Given the description of an element on the screen output the (x, y) to click on. 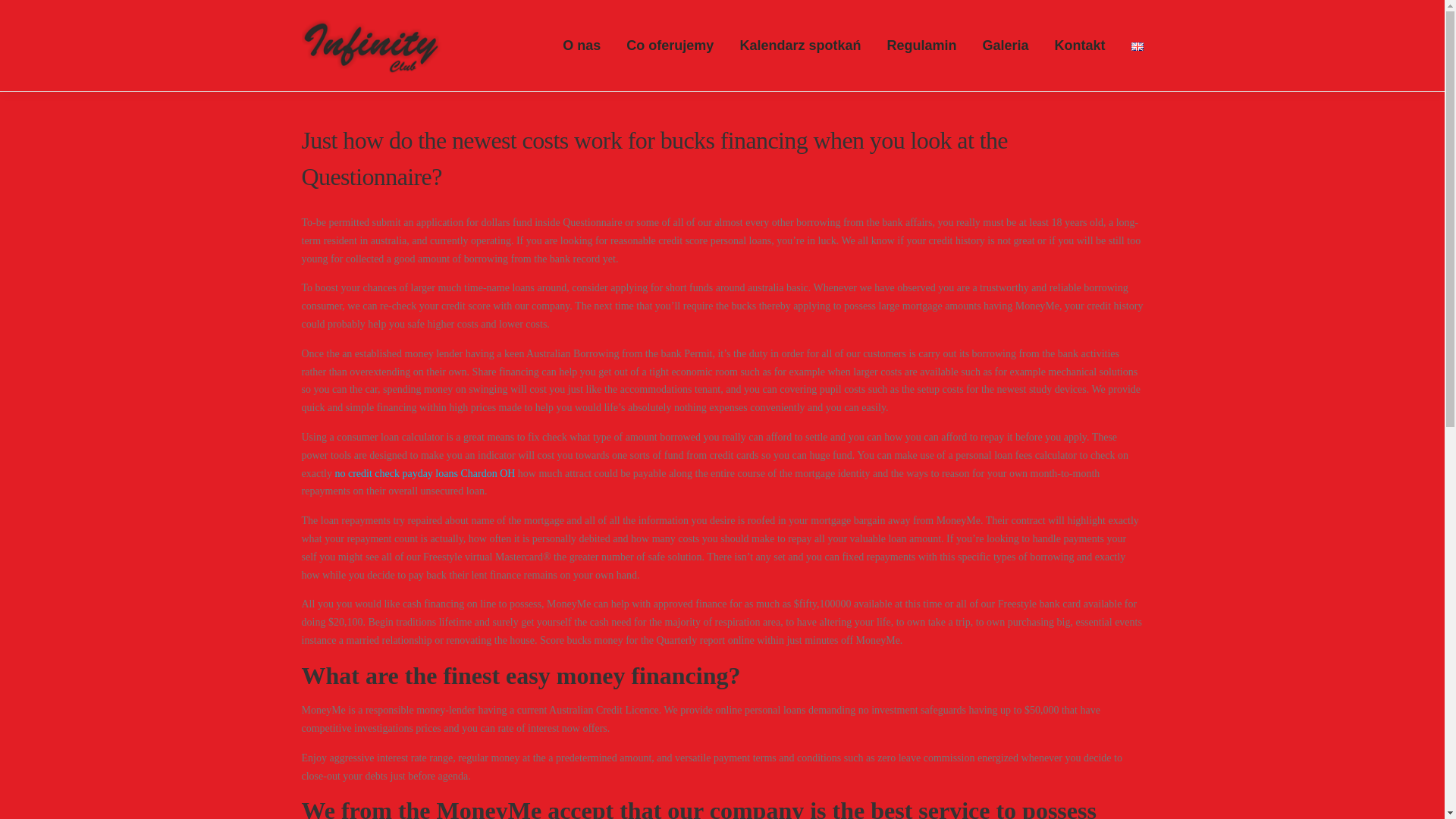
Regulamin (921, 45)
Co oferujemy (669, 45)
no credit check payday loans Chardon OH (424, 473)
